Given the description of an element on the screen output the (x, y) to click on. 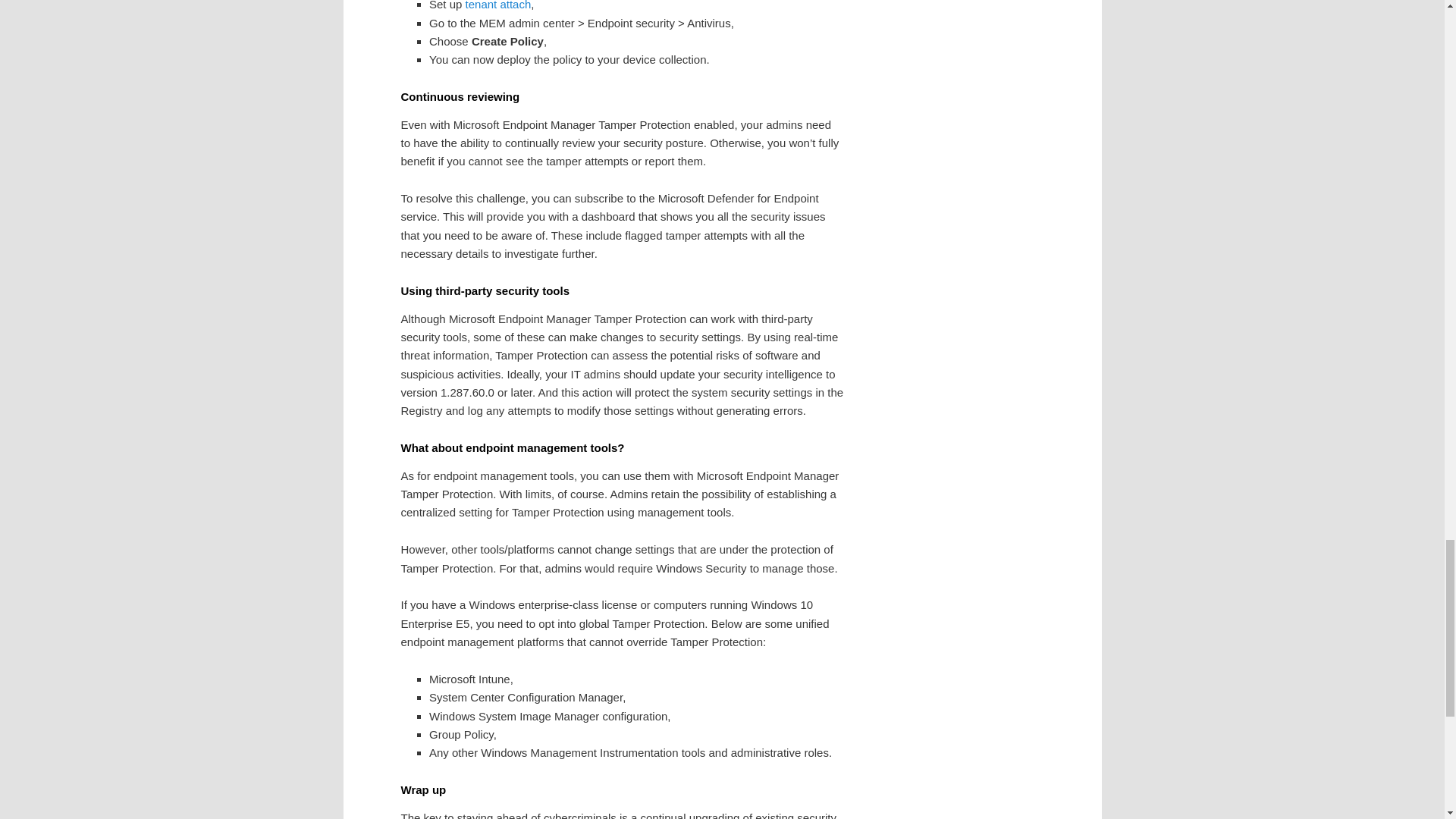
tenant attach (498, 5)
